Given the description of an element on the screen output the (x, y) to click on. 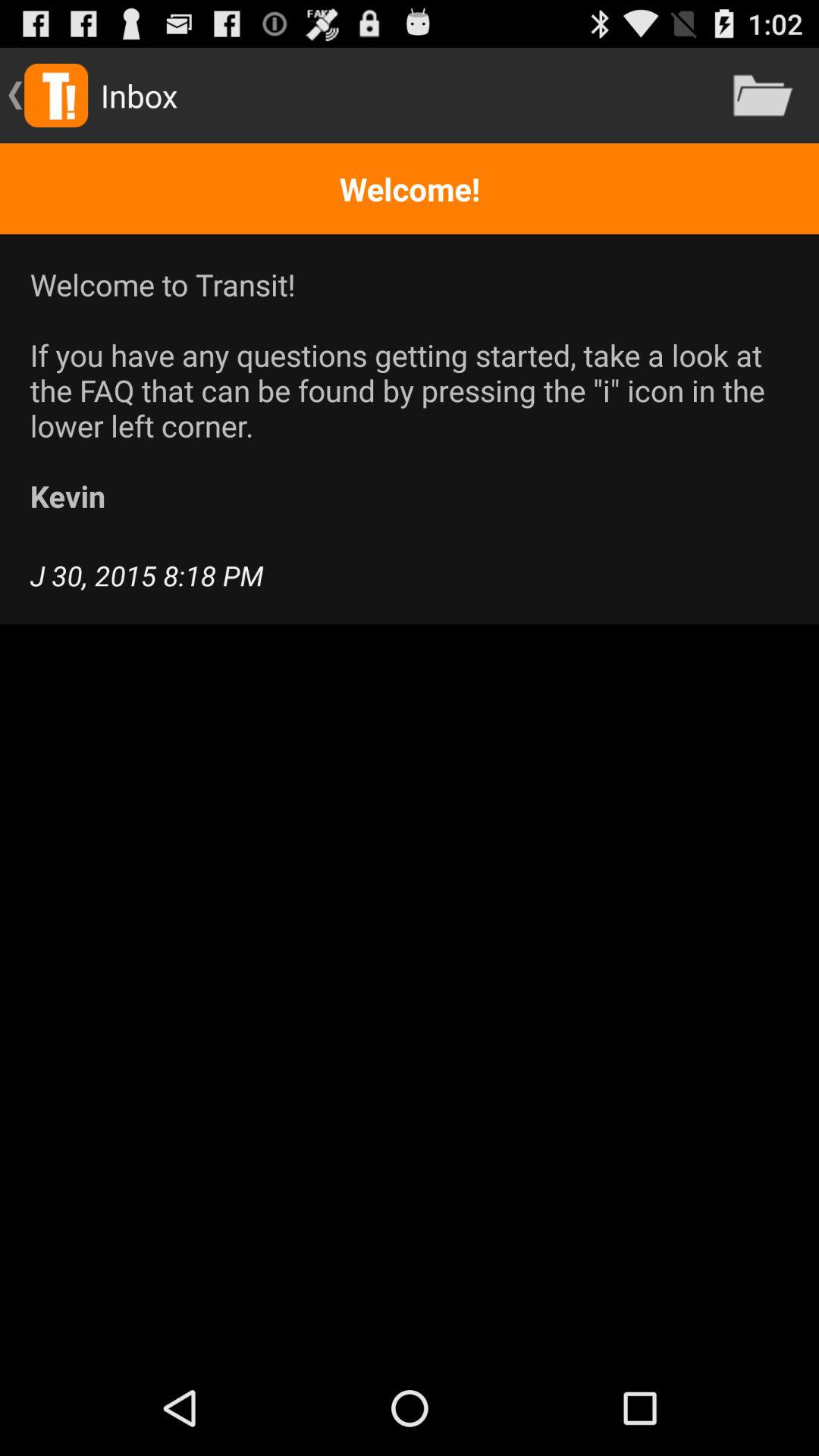
turn off item to the right of the inbox app (763, 95)
